Given the description of an element on the screen output the (x, y) to click on. 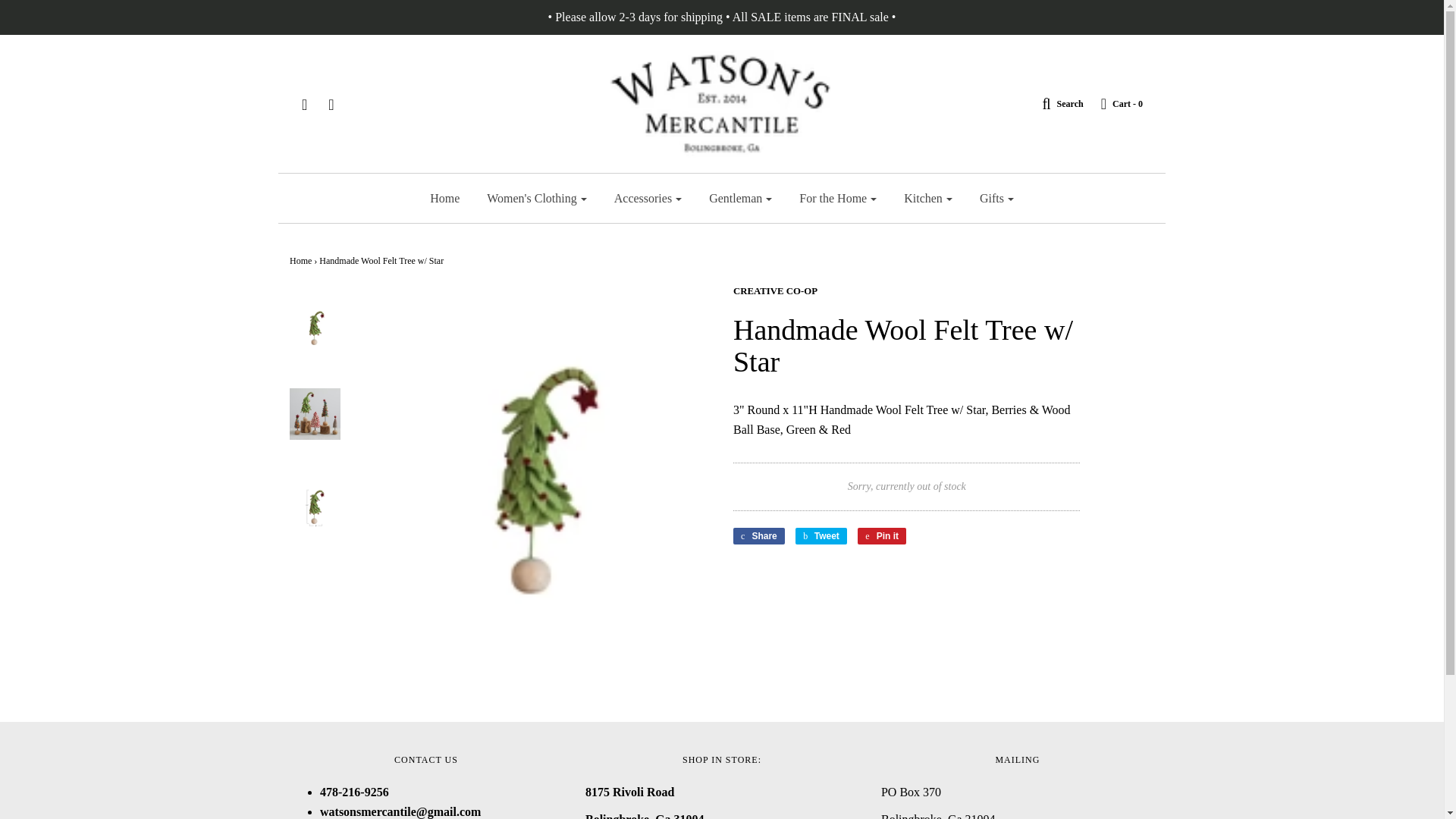
Search (1054, 103)
Cart (1114, 103)
Back to the frontpage (300, 260)
